Given the description of an element on the screen output the (x, y) to click on. 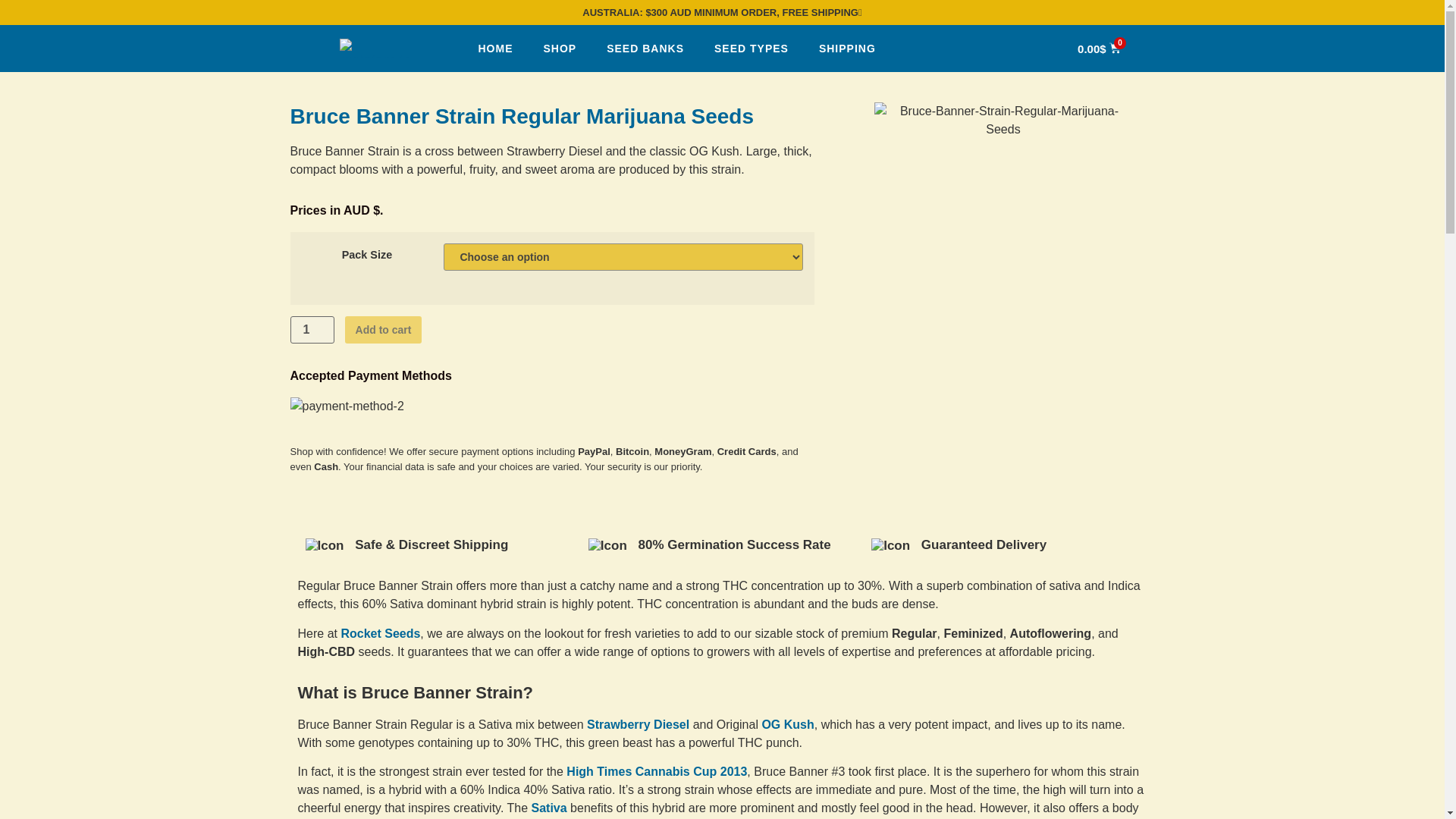
SHIPPING (847, 48)
SEED BANKS (644, 48)
SEED TYPES (750, 48)
SHOP (559, 48)
1 (311, 329)
HOME (495, 48)
